Given the description of an element on the screen output the (x, y) to click on. 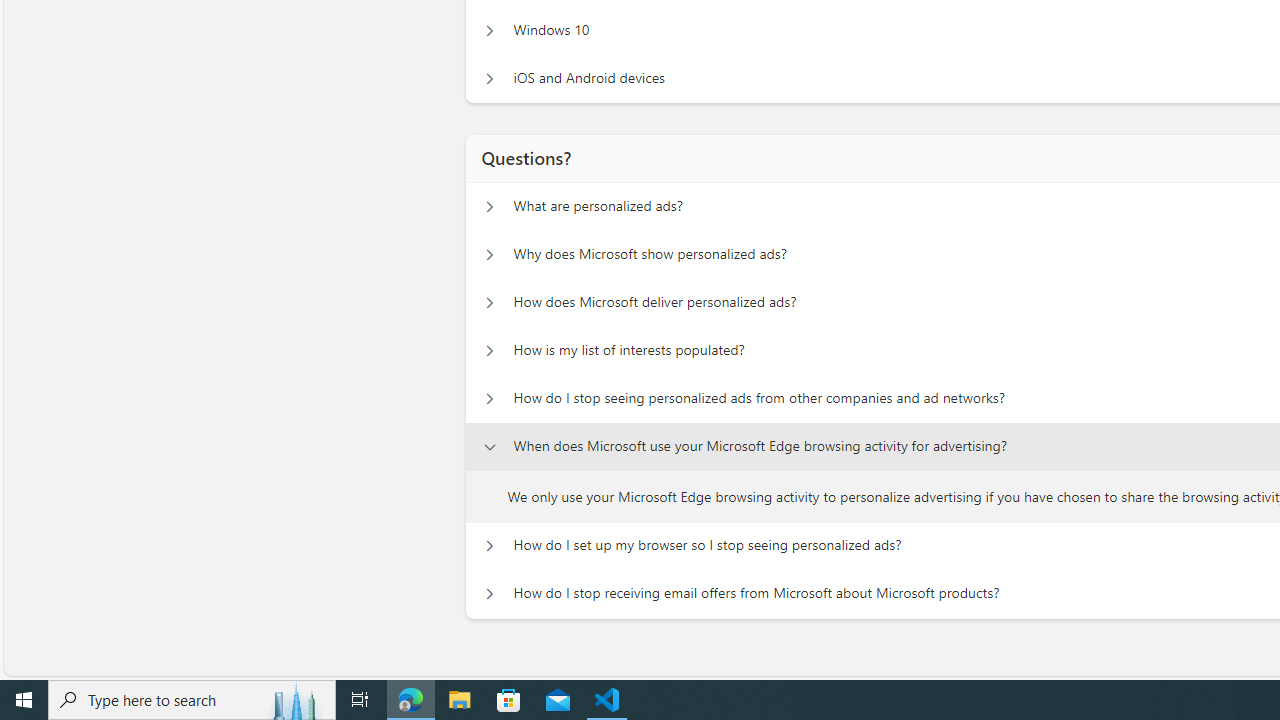
Questions? Why does Microsoft show personalized ads? (489, 255)
Questions? What are personalized ads? (489, 206)
Questions? How does Microsoft deliver personalized ads? (489, 302)
Manage personalized ads on your device Windows 10 (489, 30)
Questions? How is my list of interests populated? (489, 350)
